Given the description of an element on the screen output the (x, y) to click on. 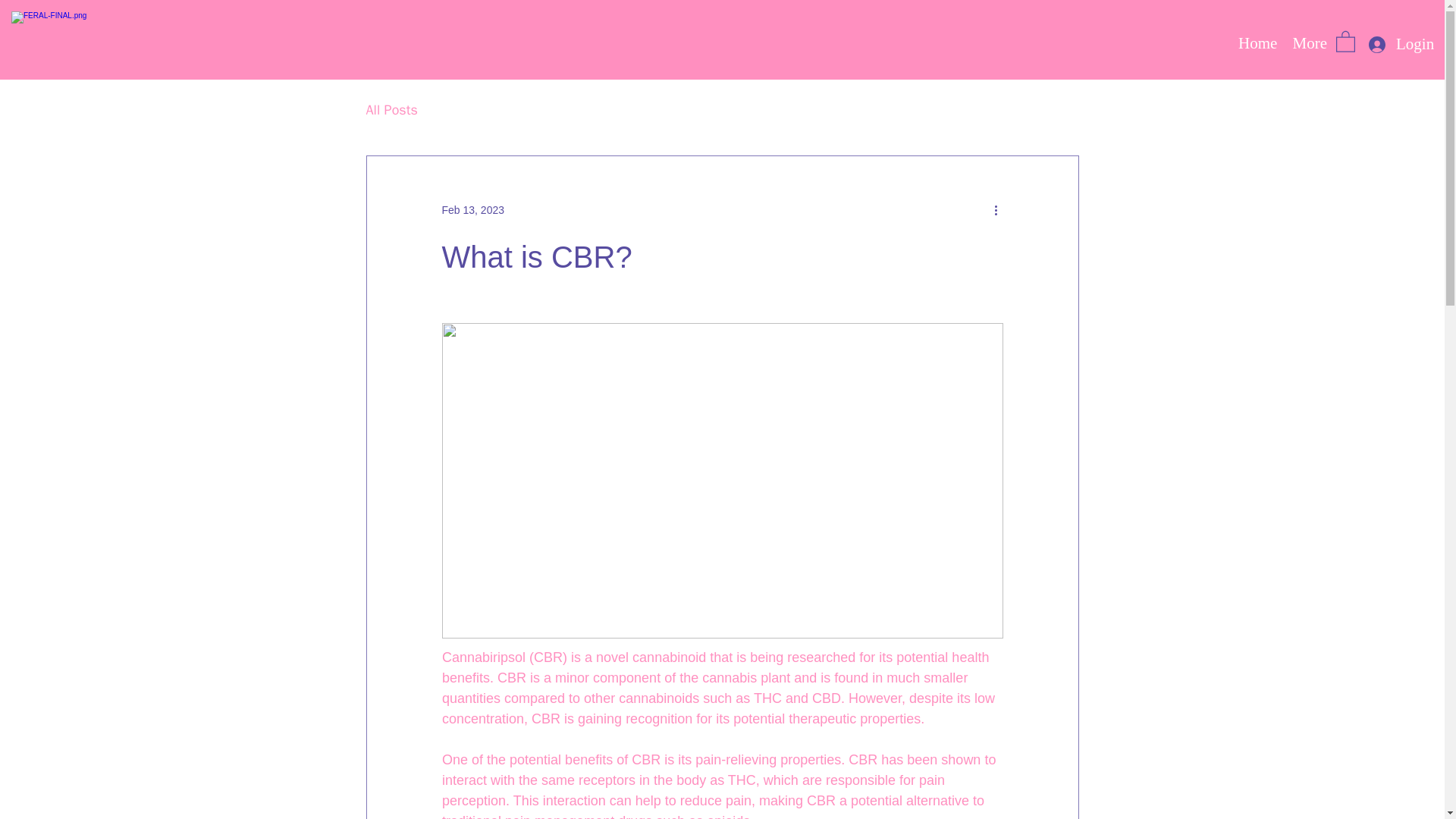
All Posts (390, 109)
Feb 13, 2023 (472, 209)
Home (1257, 40)
